Given the description of an element on the screen output the (x, y) to click on. 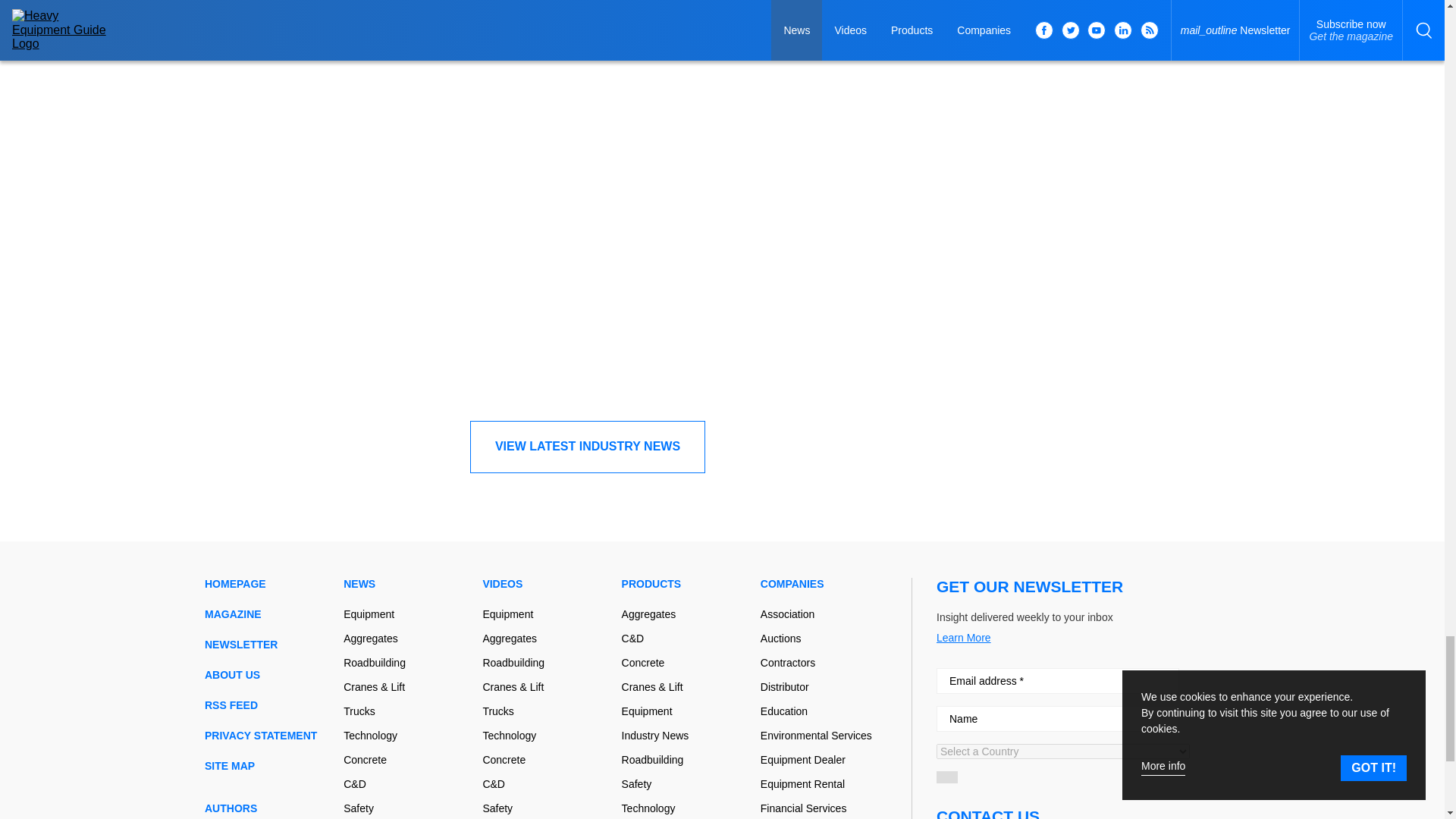
PRIVACY STATEMENT (268, 735)
NEWSLETTER (268, 644)
RSS FEED (268, 705)
MAGAZINE (268, 613)
ABOUT US (268, 674)
VIEW LATEST INDUSTRY NEWS (587, 446)
HOMEPAGE (268, 583)
SITE MAP (268, 766)
